Given the description of an element on the screen output the (x, y) to click on. 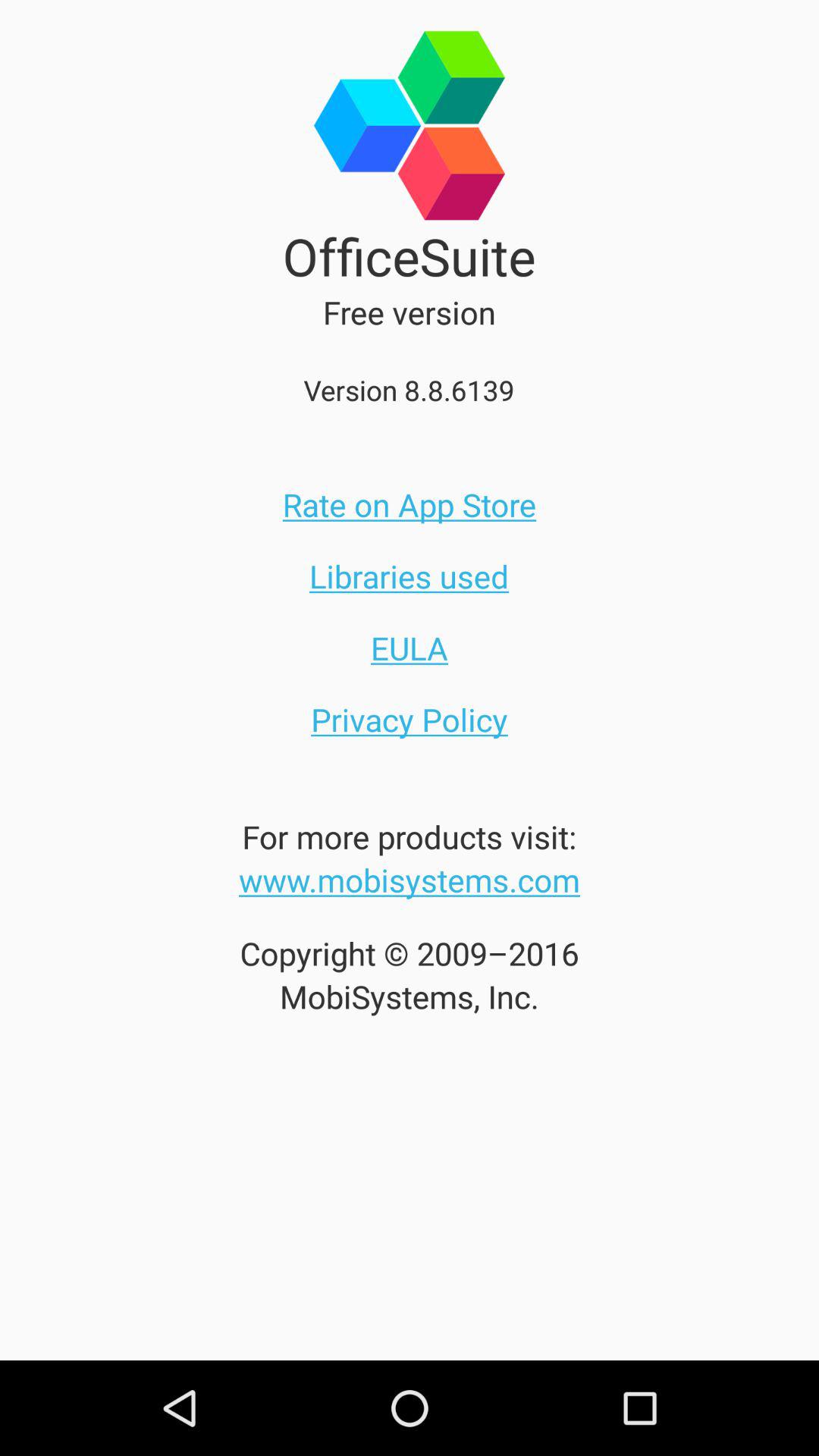
select the www.mobisystems.com (409, 879)
